Given the description of an element on the screen output the (x, y) to click on. 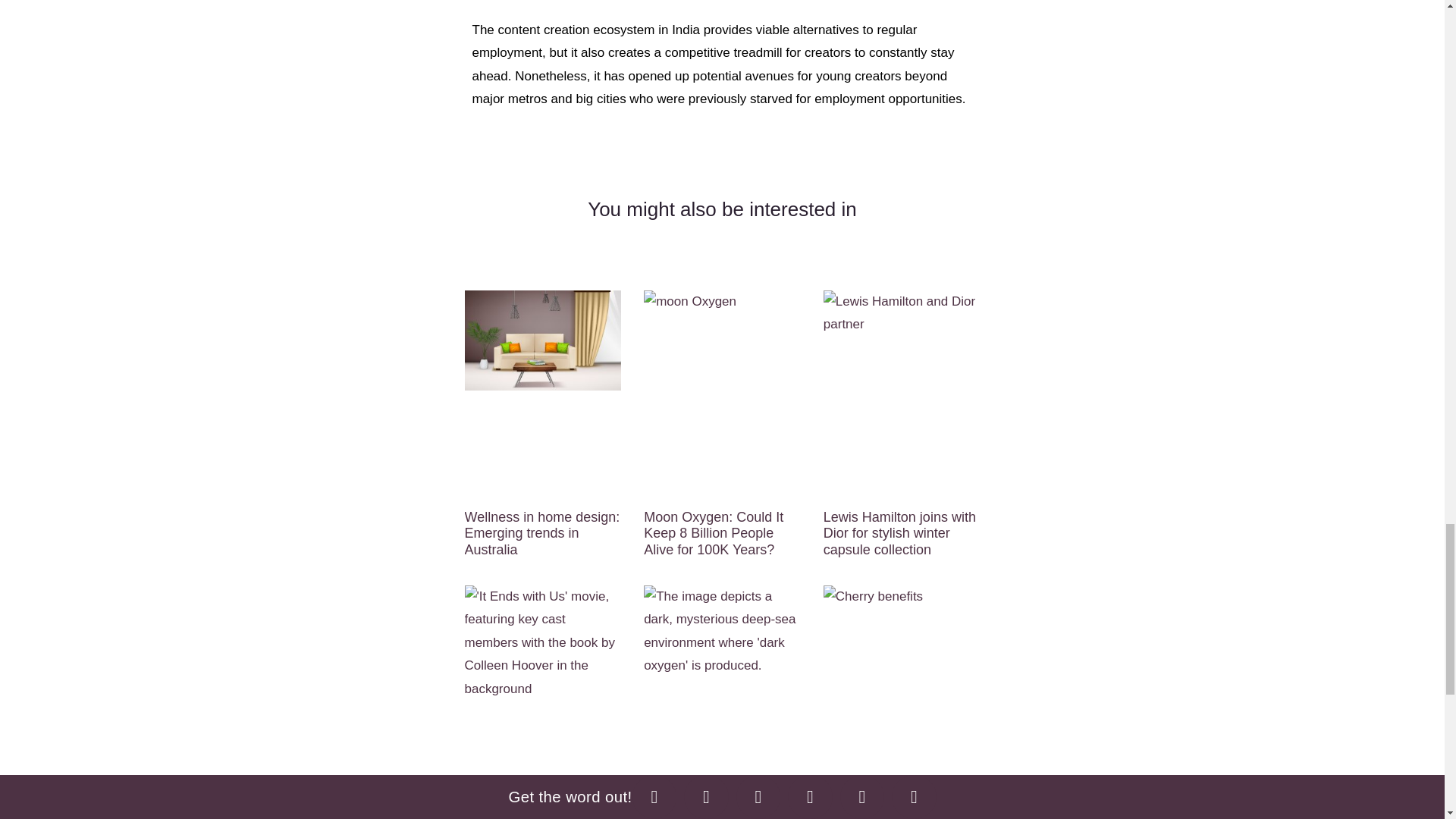
Wellness in home design: Emerging trends in Australia (542, 533)
